Given the description of an element on the screen output the (x, y) to click on. 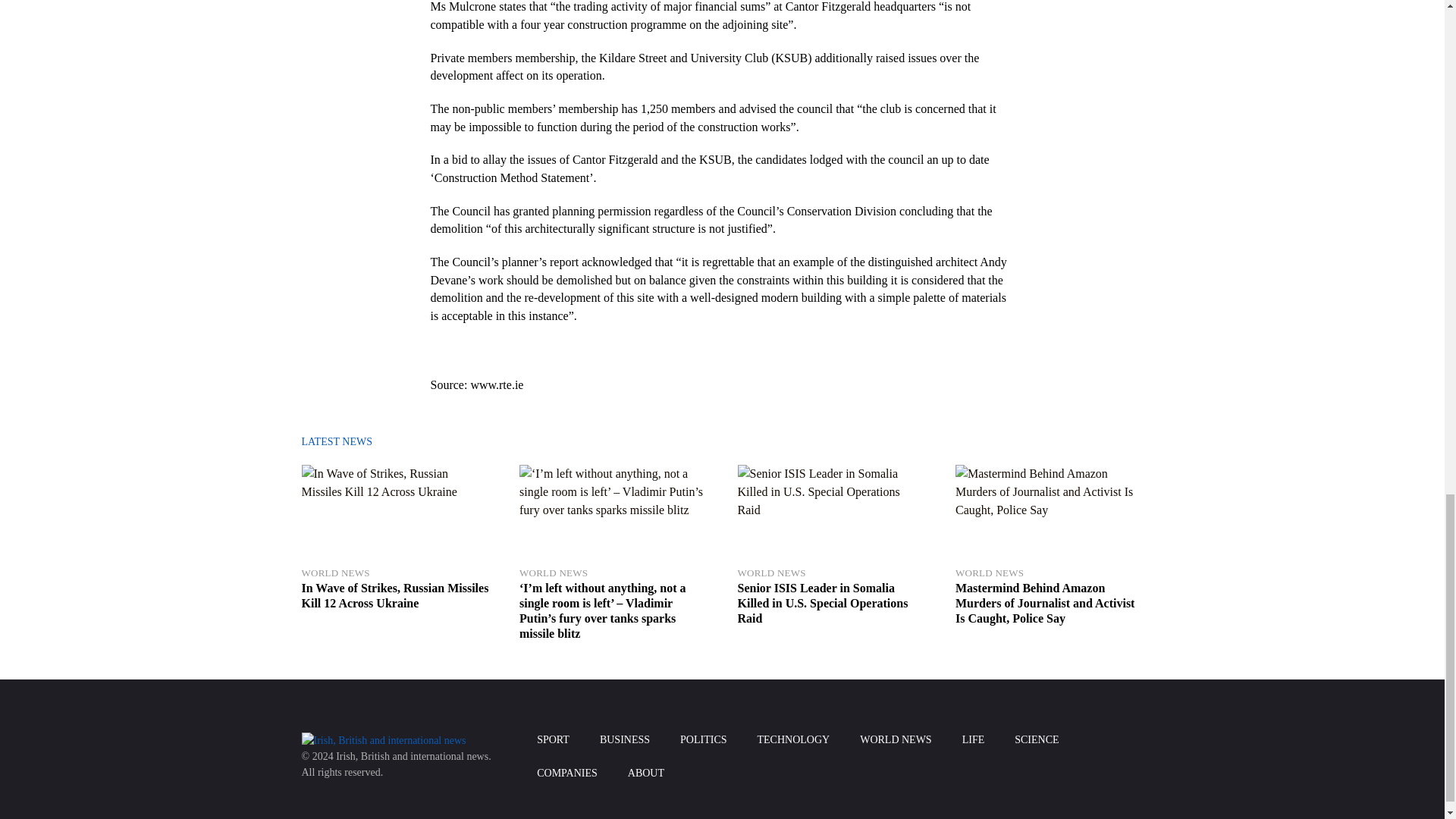
SPORT (553, 739)
WORLD NEWS (395, 572)
COMPANIES (566, 773)
ABOUT (645, 773)
POLITICS (703, 739)
LIFE (973, 739)
TECHNOLOGY (793, 739)
WORLD NEWS (1048, 572)
WORLD NEWS (895, 739)
